Given the description of an element on the screen output the (x, y) to click on. 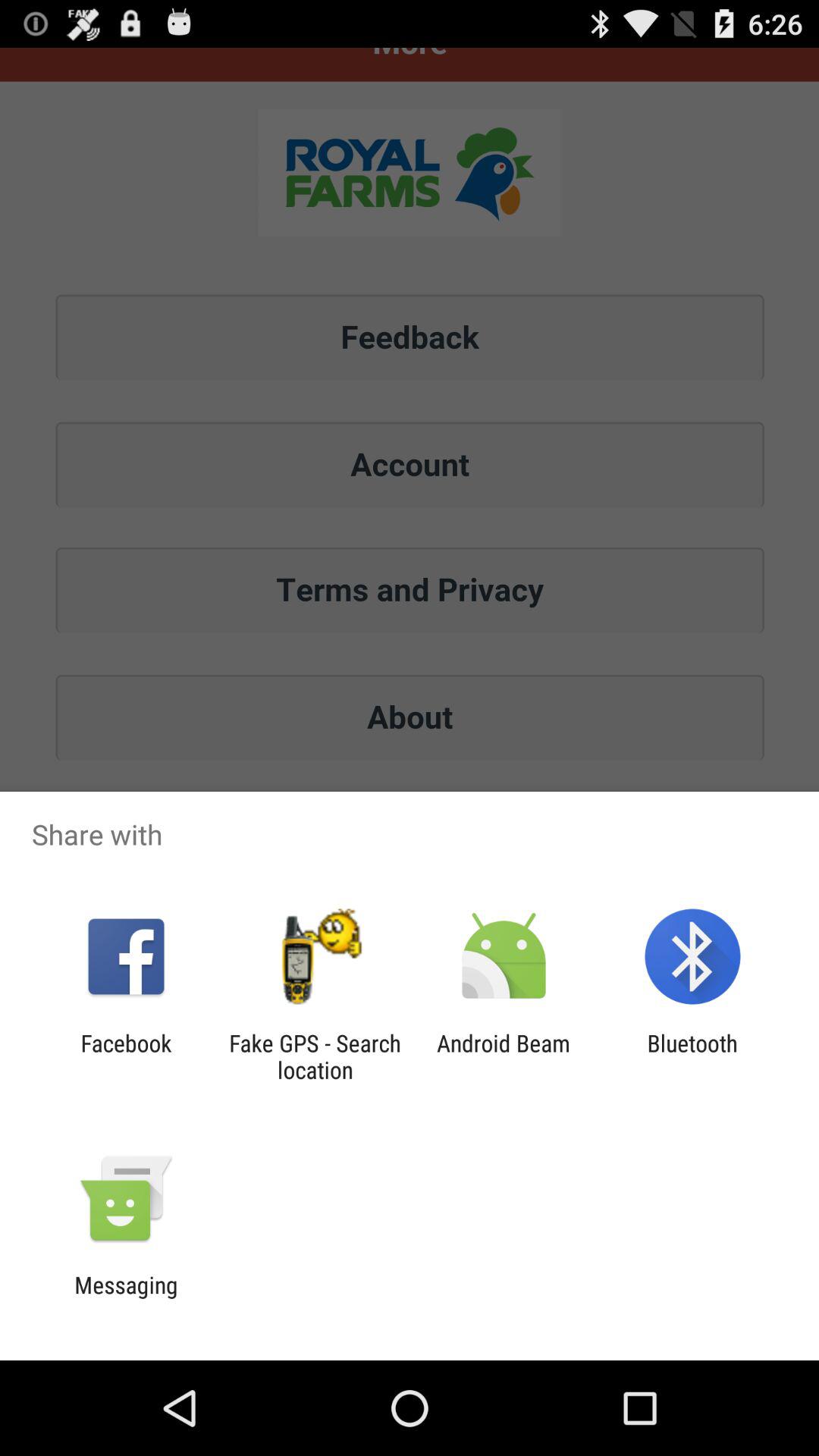
choose facebook app (125, 1056)
